Given the description of an element on the screen output the (x, y) to click on. 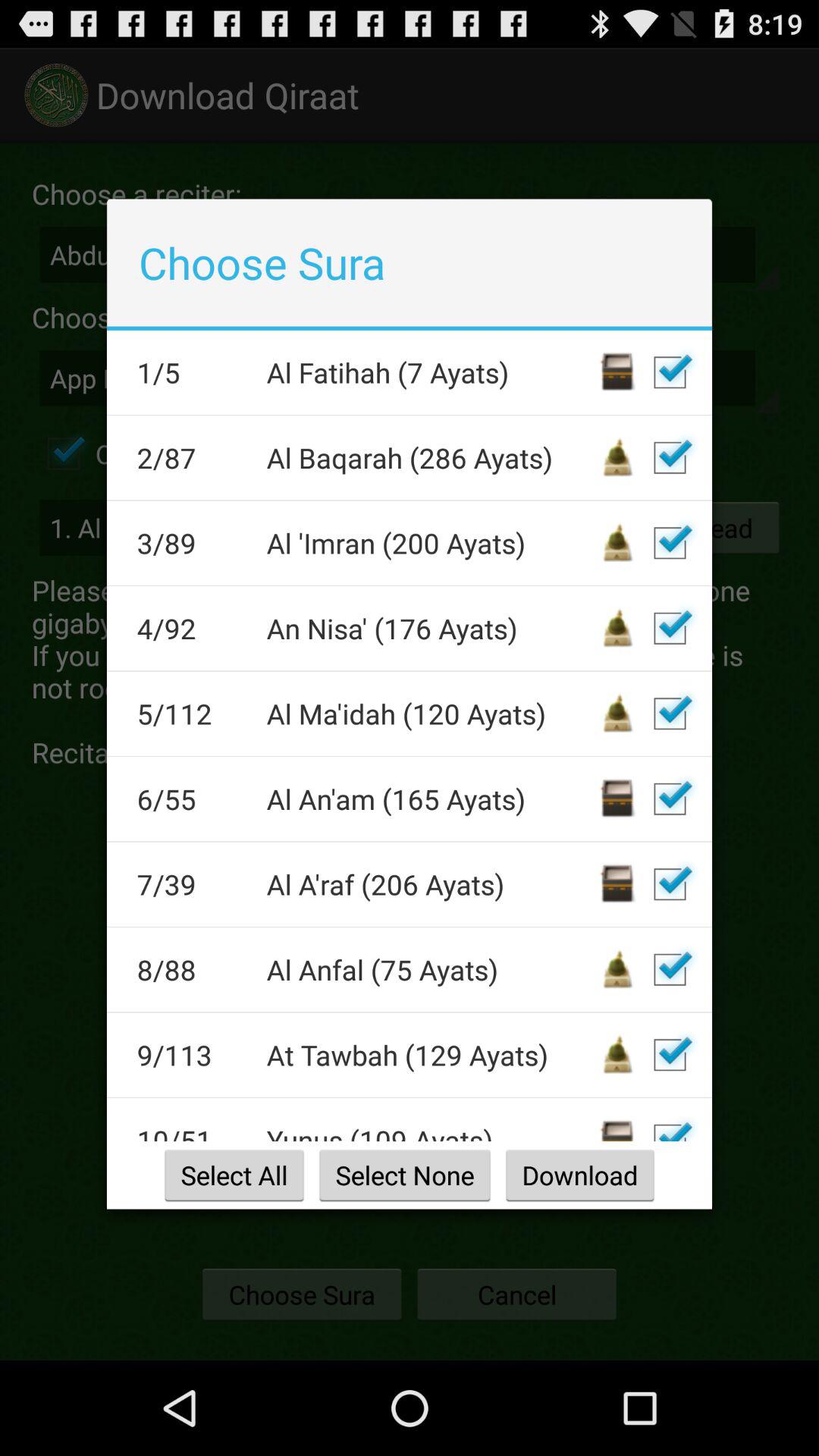
toggle autoplay option (669, 1124)
